Given the description of an element on the screen output the (x, y) to click on. 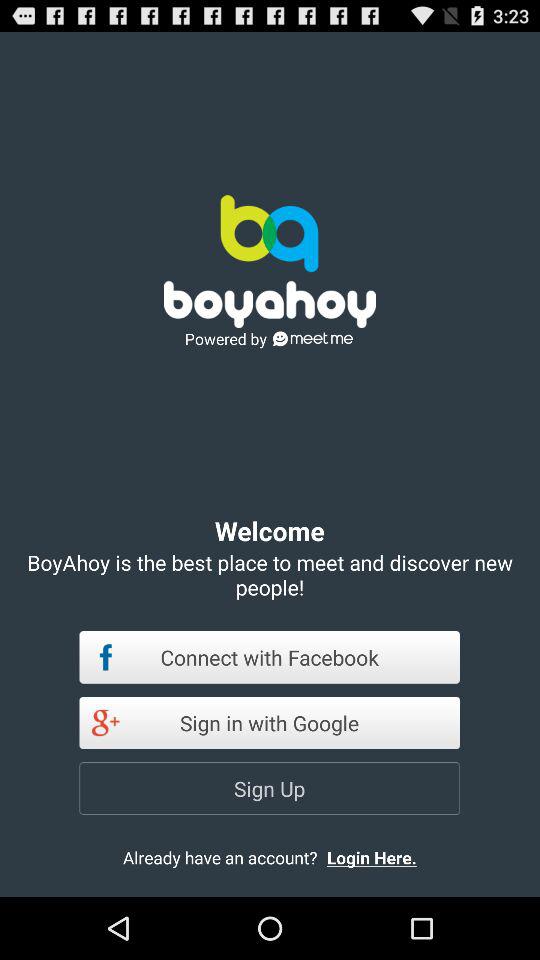
press the app at the bottom right corner (388, 857)
